Given the description of an element on the screen output the (x, y) to click on. 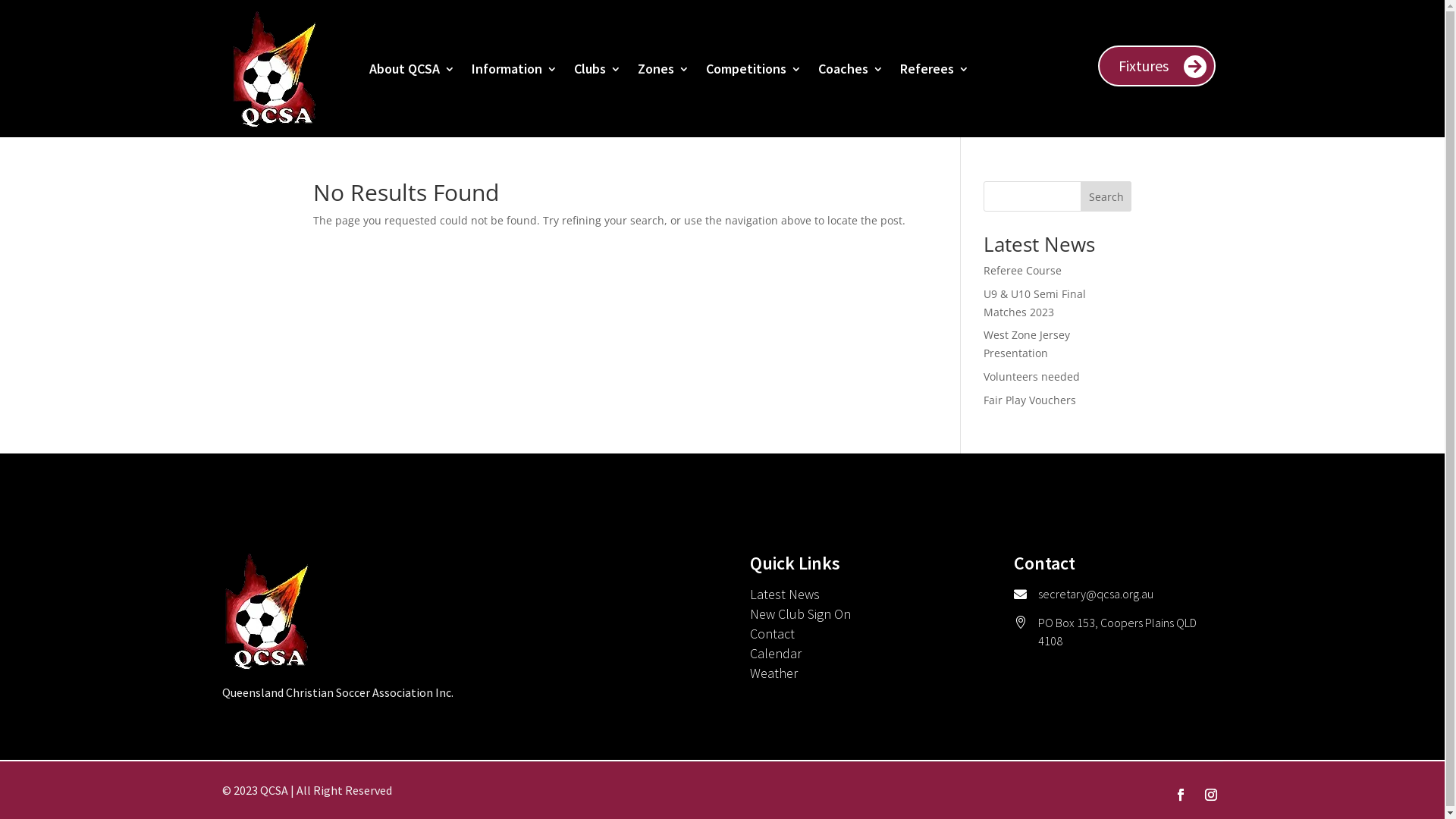
Follow on Facebook Element type: hover (1179, 794)
Fair Play Vouchers Element type: text (1029, 399)
Follow on Instagram Element type: hover (1210, 794)
Referee Course Element type: text (1022, 270)
U9 & U10 Semi Final Matches 2023 Element type: text (1034, 302)
Weather Element type: text (773, 672)
Competitions Element type: text (752, 68)
Latest News Element type: text (784, 593)
secretary@qcsa.org.au Element type: text (1095, 593)
West Zone Jersey Presentation Element type: text (1026, 343)
Volunteers needed Element type: text (1031, 376)
Clubs Element type: text (596, 68)
About QCSA Element type: text (411, 68)
Zones Element type: text (662, 68)
Search Element type: text (1106, 196)
Coaches Element type: text (849, 68)
Calendar Element type: text (775, 653)
Fixtures Element type: text (1156, 65)
New Club Sign On Element type: text (799, 613)
Information Element type: text (514, 68)
Contact Element type: text (771, 633)
Referees Element type: text (933, 68)
QCSA Logo No Tagline Element type: hover (266, 610)
